Given the description of an element on the screen output the (x, y) to click on. 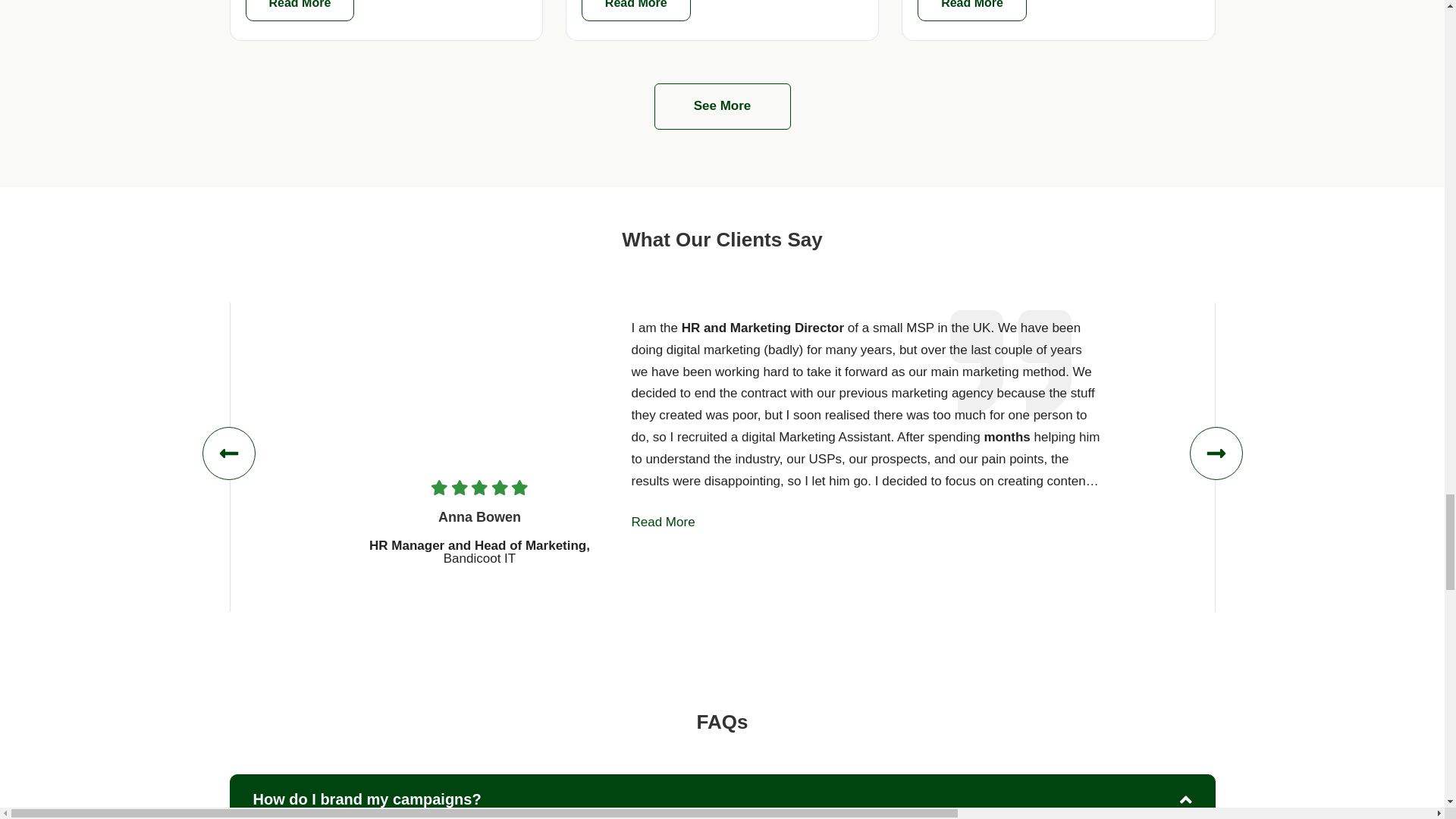
Read More (300, 10)
See More (721, 106)
Read More (635, 10)
Read More (971, 10)
